Given the description of an element on the screen output the (x, y) to click on. 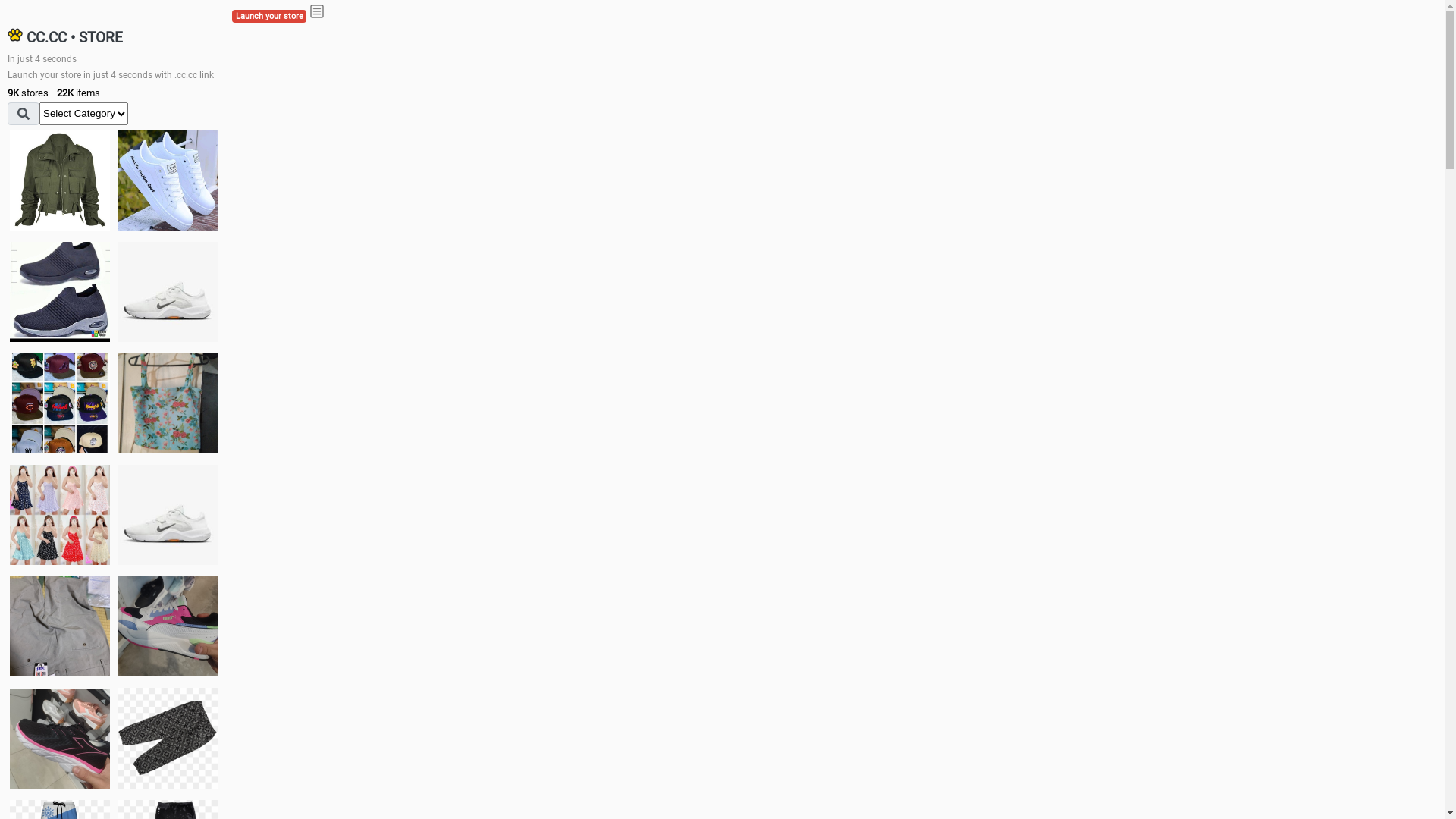
Things we need Element type: hover (59, 403)
Ukay cloth Element type: hover (167, 403)
white shoes Element type: hover (167, 180)
Shoes for boys Element type: hover (167, 291)
Short pant Element type: hover (167, 737)
Zapatillas pumas Element type: hover (167, 626)
jacket Element type: hover (59, 180)
Dress/square nect top Element type: hover (59, 514)
Shoes Element type: hover (167, 514)
Zapatillas Element type: hover (59, 738)
Launch your store Element type: text (269, 15)
shoes for boys Element type: hover (59, 291)
